Given the description of an element on the screen output the (x, y) to click on. 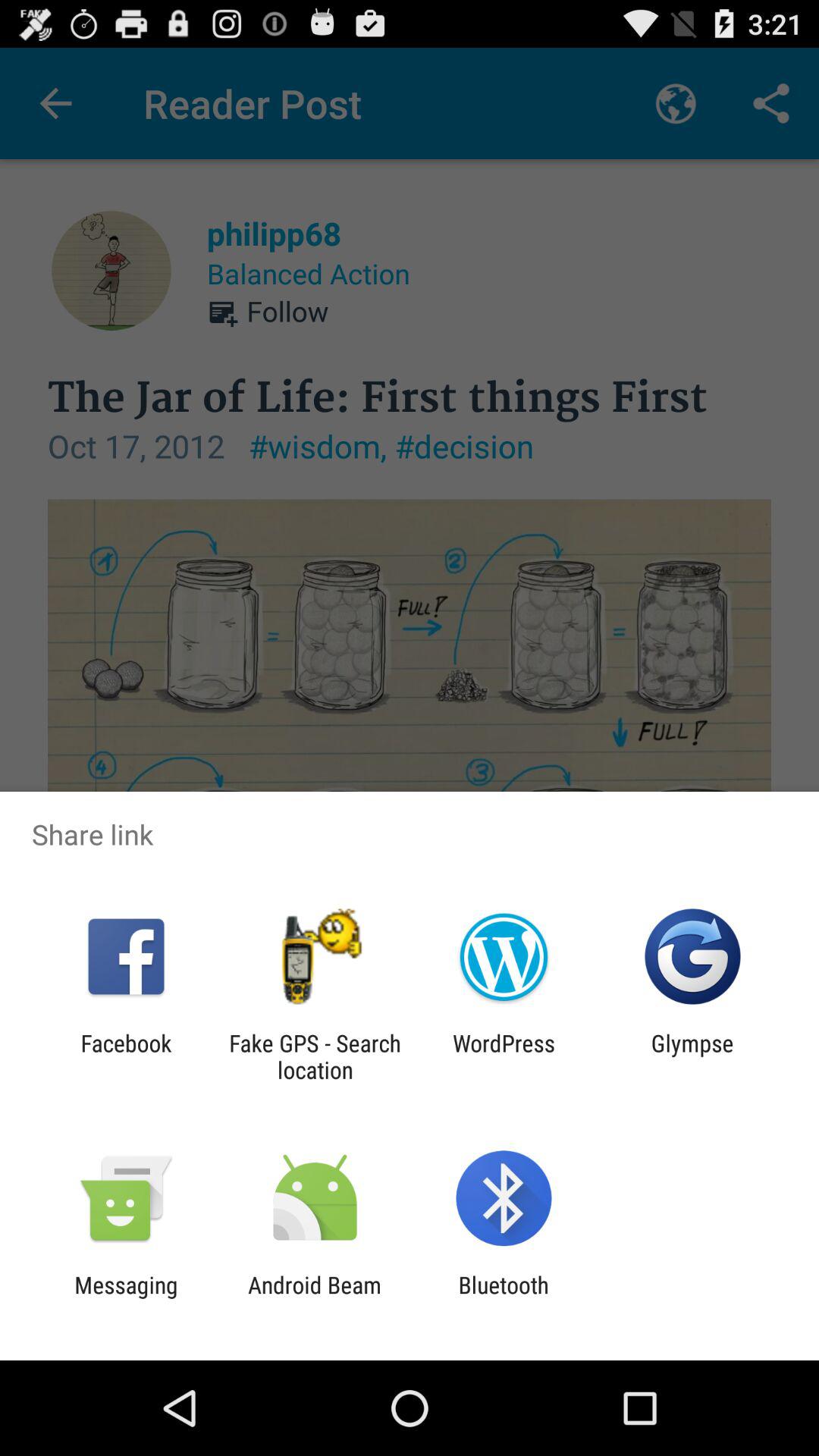
open app next to the wordpress item (314, 1056)
